Given the description of an element on the screen output the (x, y) to click on. 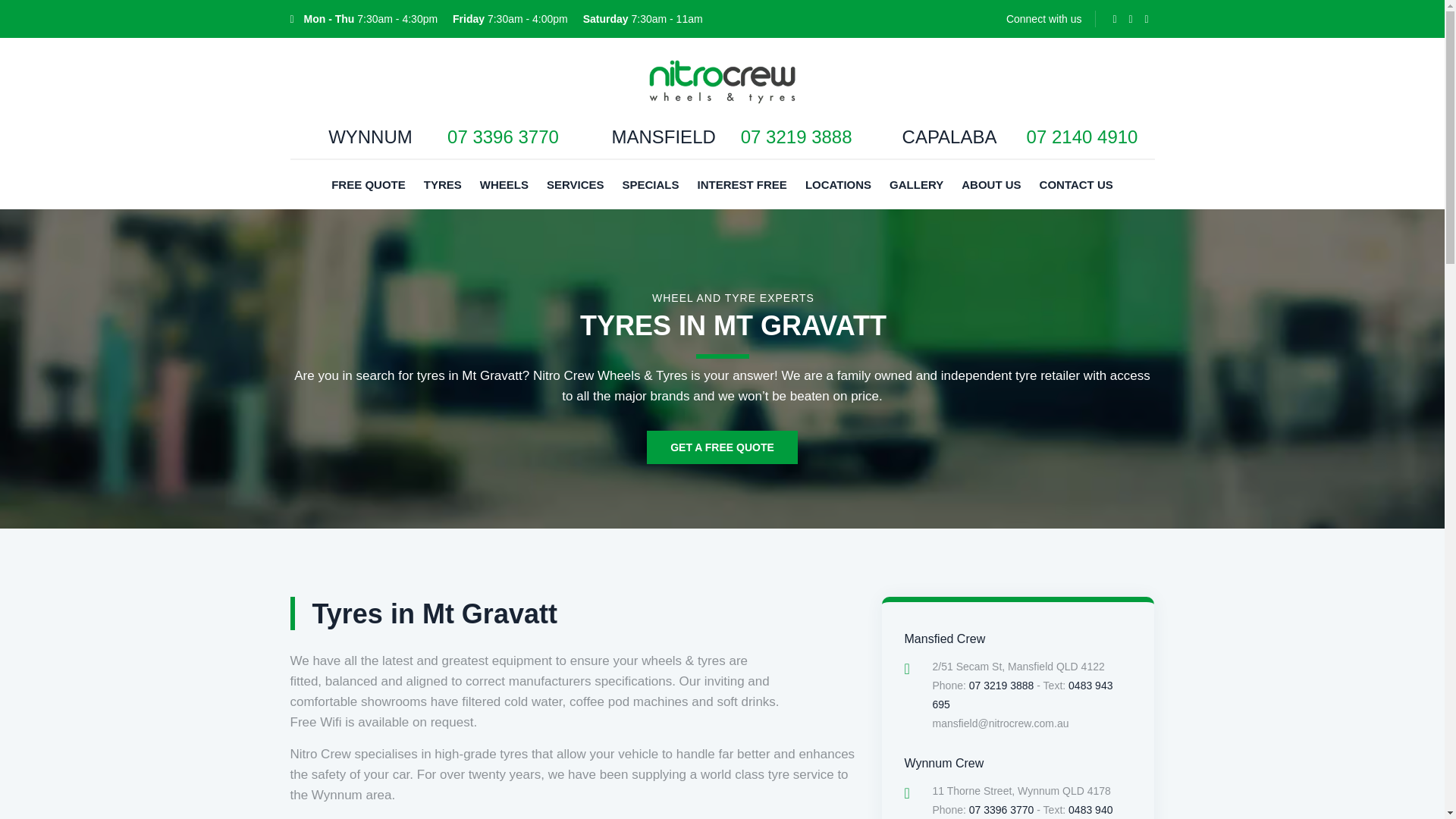
FREE QUOTE (367, 184)
SERVICES (574, 184)
INTEREST FREE (742, 184)
Nitrocrew (722, 80)
SPECIALS (722, 141)
Connect with us (434, 141)
TYRES (649, 184)
WHEELS (1043, 19)
LOCATIONS (442, 184)
